Given the description of an element on the screen output the (x, y) to click on. 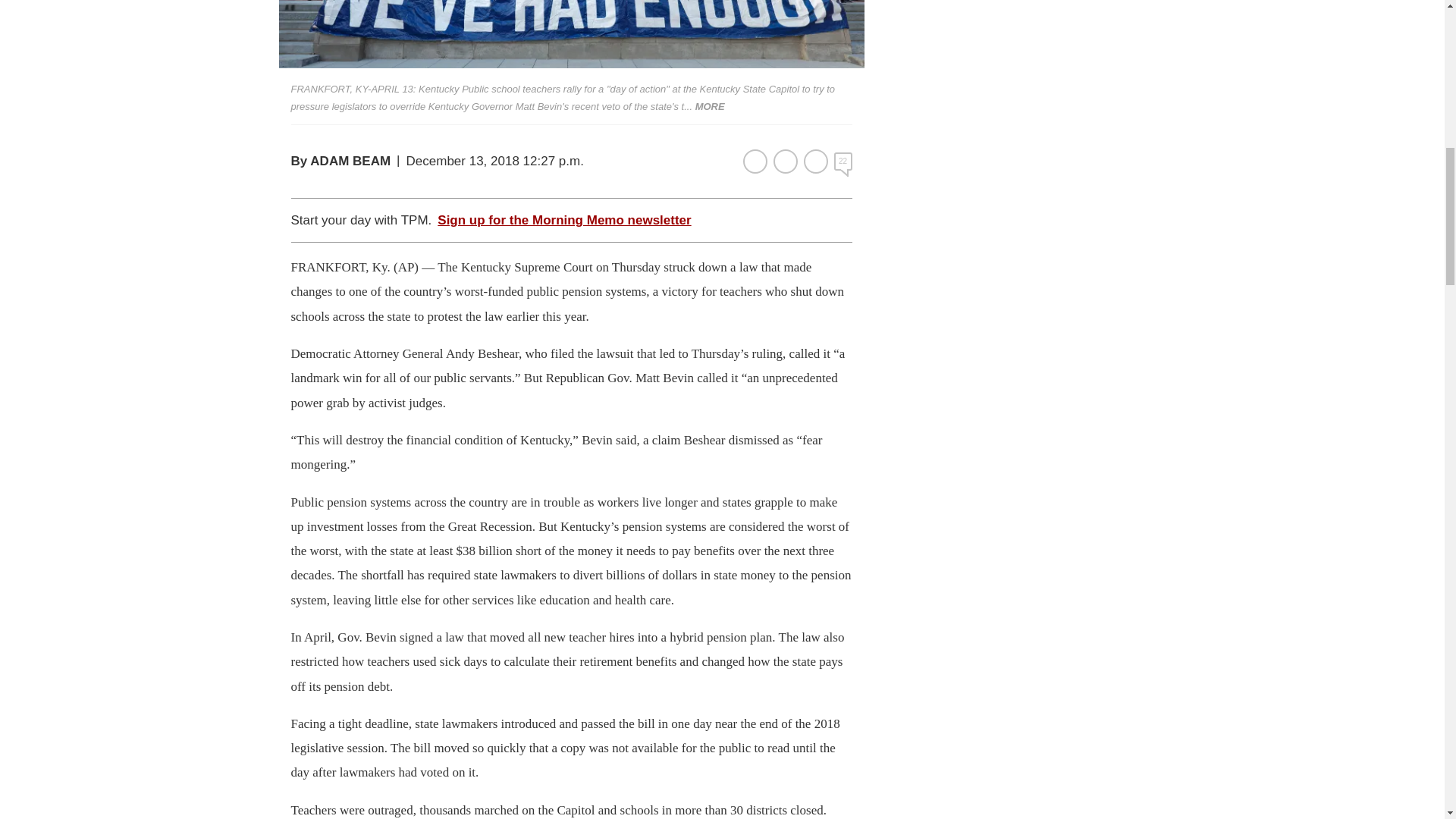
Posts by ADAM BEAM (350, 160)
ADAM BEAM (350, 160)
22 (842, 161)
Sign up for the Morning Memo newsletter (564, 220)
